Given the description of an element on the screen output the (x, y) to click on. 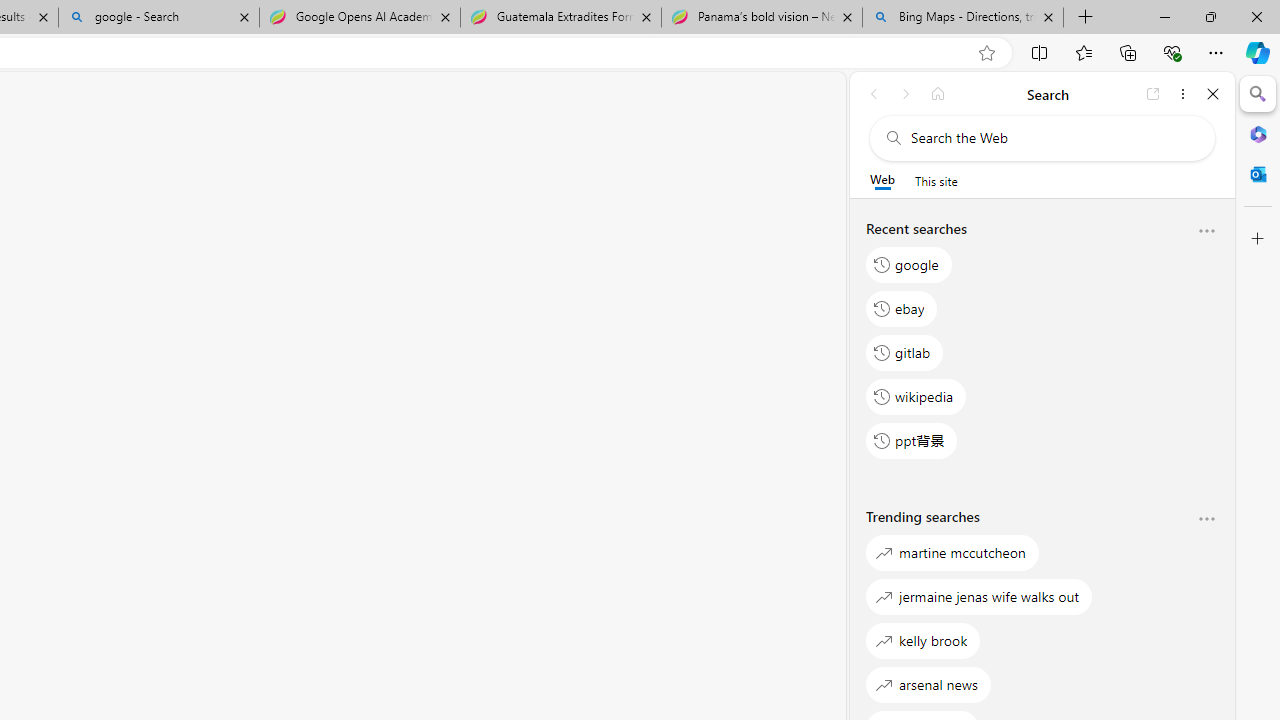
jermaine jenas wife walks out (979, 596)
This site scope (936, 180)
Web scope (882, 180)
kelly brook (923, 640)
Google Opens AI Academy for Startups - Nearshore Americas (359, 17)
